Given the description of an element on the screen output the (x, y) to click on. 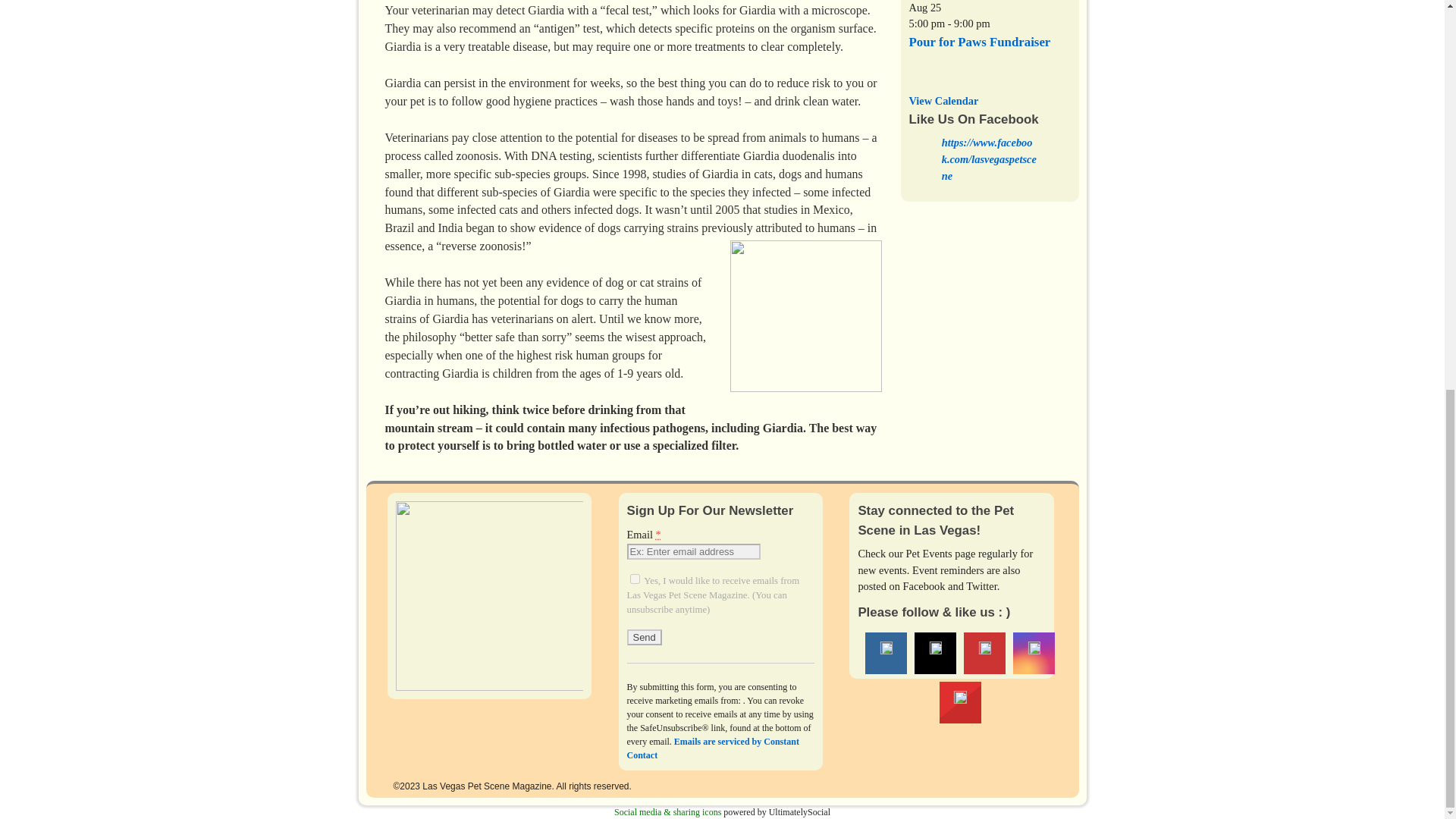
View more events. (943, 101)
Instagram (1034, 652)
Twitter (935, 652)
YOUTUBE (960, 702)
Send (644, 637)
Facebook (886, 652)
Pour for Paws Fundraiser (978, 42)
1 (635, 578)
Pinterest (984, 652)
